Given the description of an element on the screen output the (x, y) to click on. 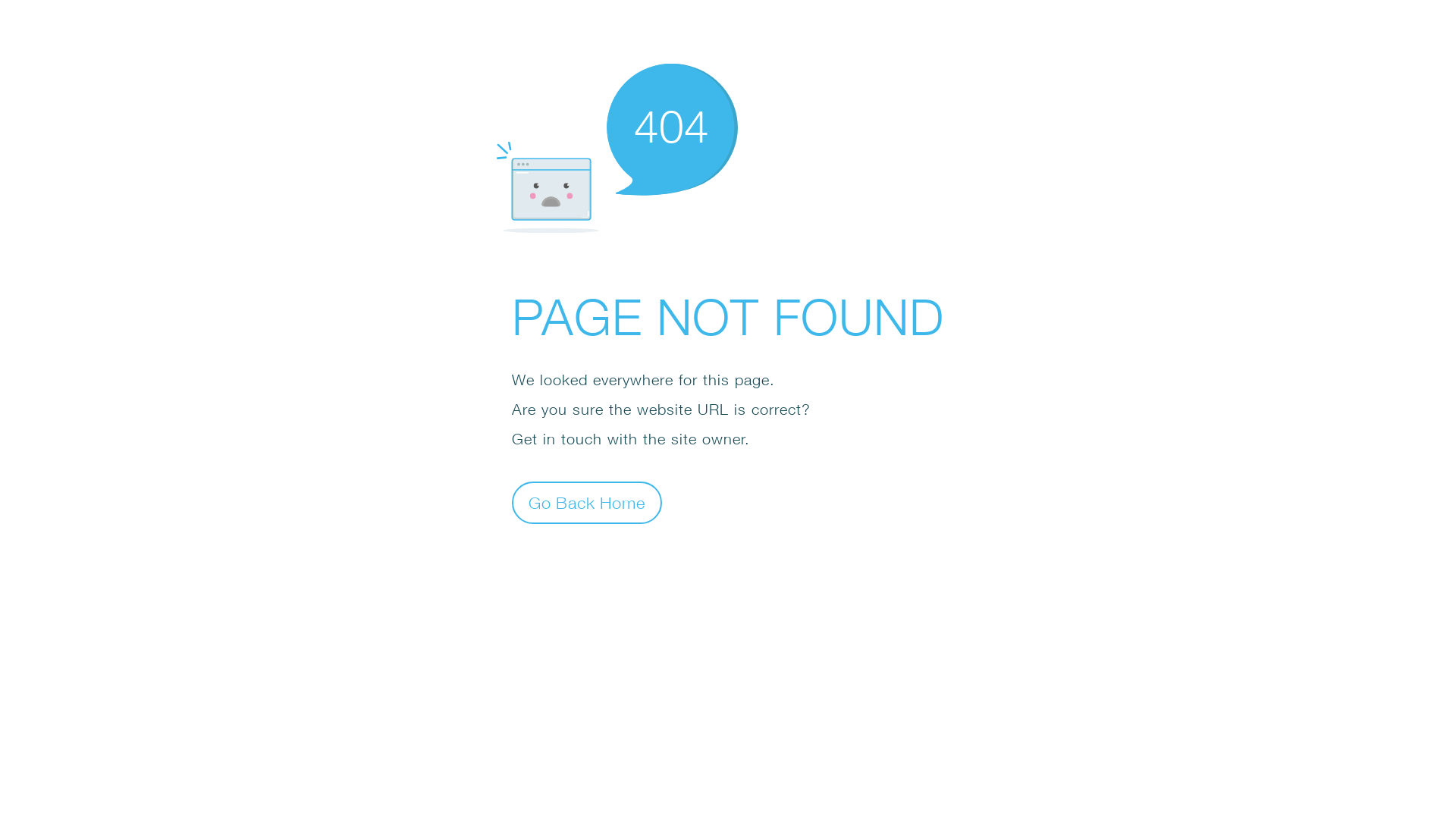
Go Back Home Element type: text (586, 502)
